Given the description of an element on the screen output the (x, y) to click on. 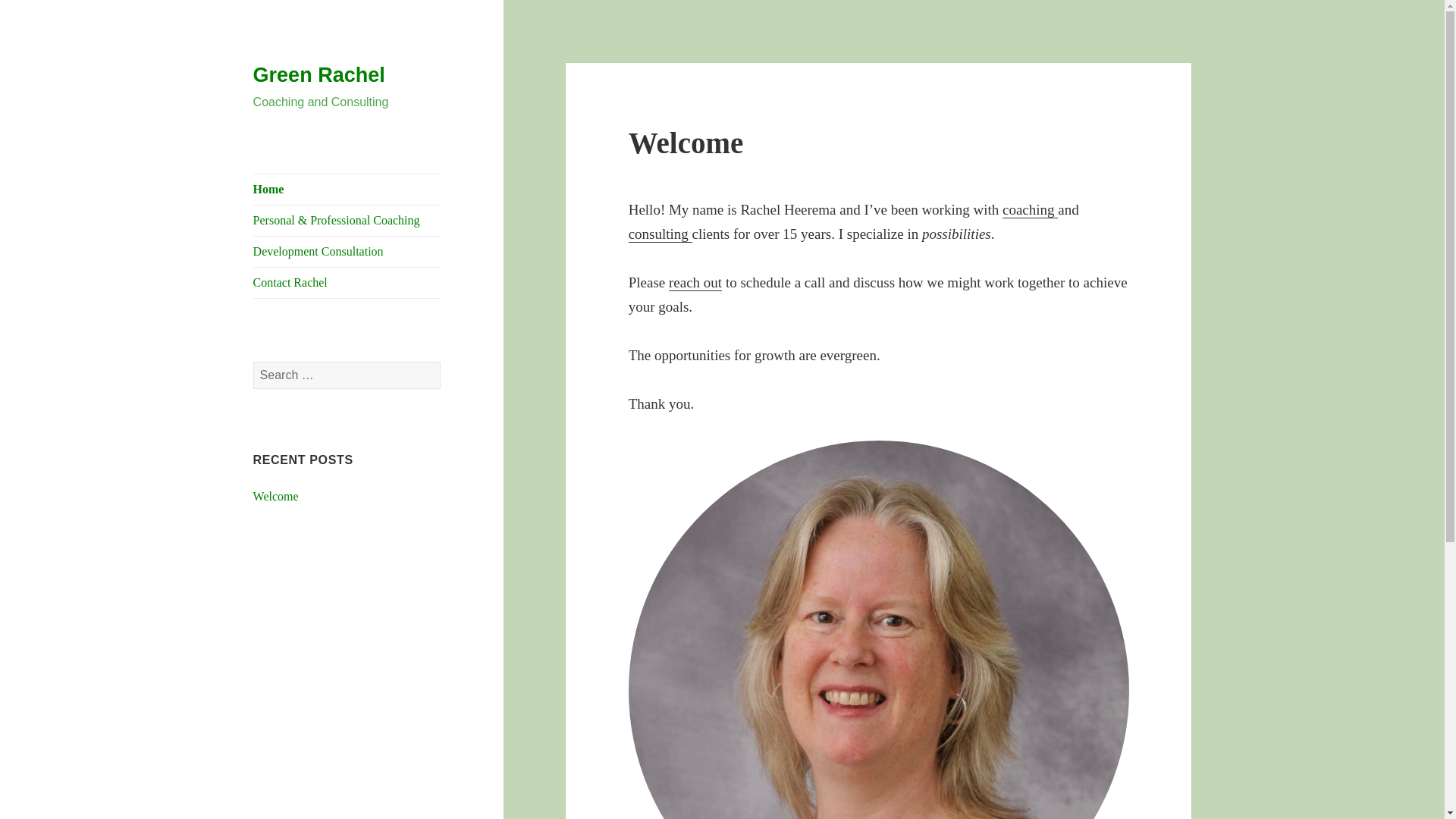
Home (347, 189)
Welcome (686, 142)
Contact Rachel (347, 282)
coaching (1030, 209)
consulting (660, 234)
Welcome (275, 495)
Development Consultation (347, 251)
